Given the description of an element on the screen output the (x, y) to click on. 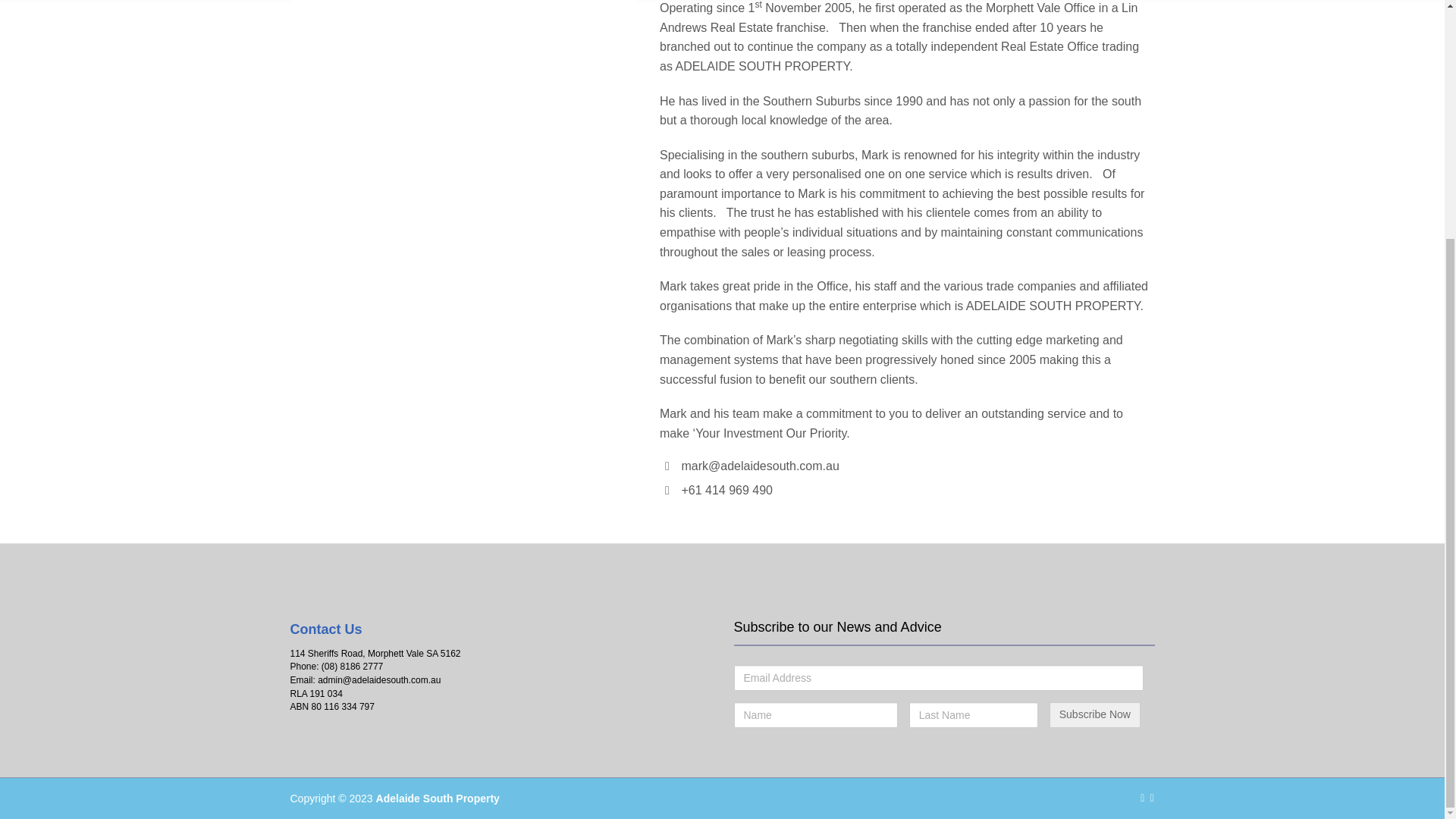
Adelaide South Property (437, 798)
Subscribe Now (1094, 714)
Subscribe Now (1094, 714)
